Given the description of an element on the screen output the (x, y) to click on. 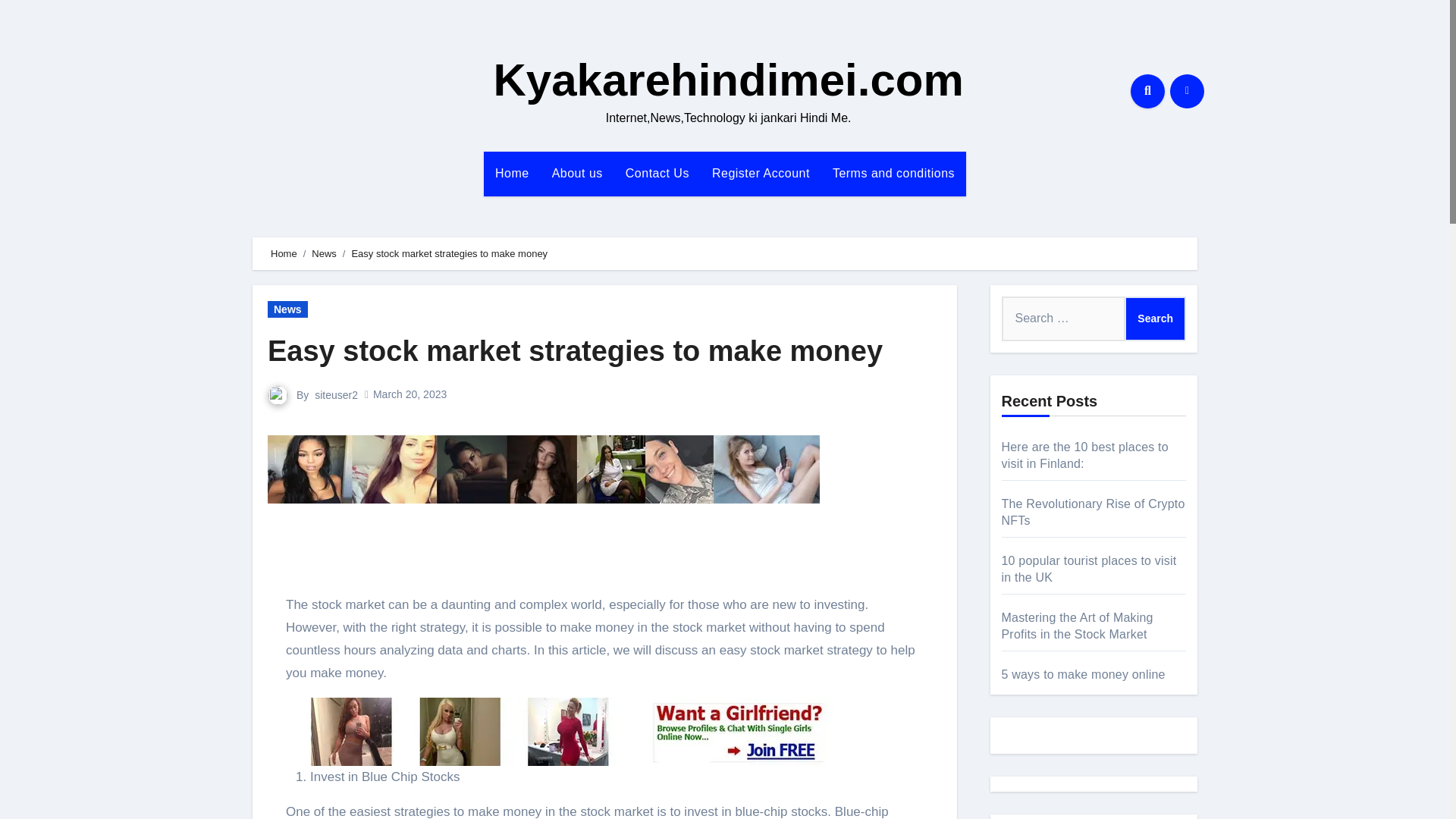
Contact Us (657, 173)
News (323, 253)
Home (511, 173)
Kyakarehindimei.com (727, 79)
Register Account (760, 173)
siteuser2 (336, 394)
Home (511, 173)
Terms and conditions (893, 173)
Search (1155, 318)
About us (577, 173)
March 20, 2023 (409, 394)
Search (1155, 318)
Home (283, 253)
Permalink to: Easy stock market strategies to make money (574, 350)
Easy stock market strategies to make money (574, 350)
